Given the description of an element on the screen output the (x, y) to click on. 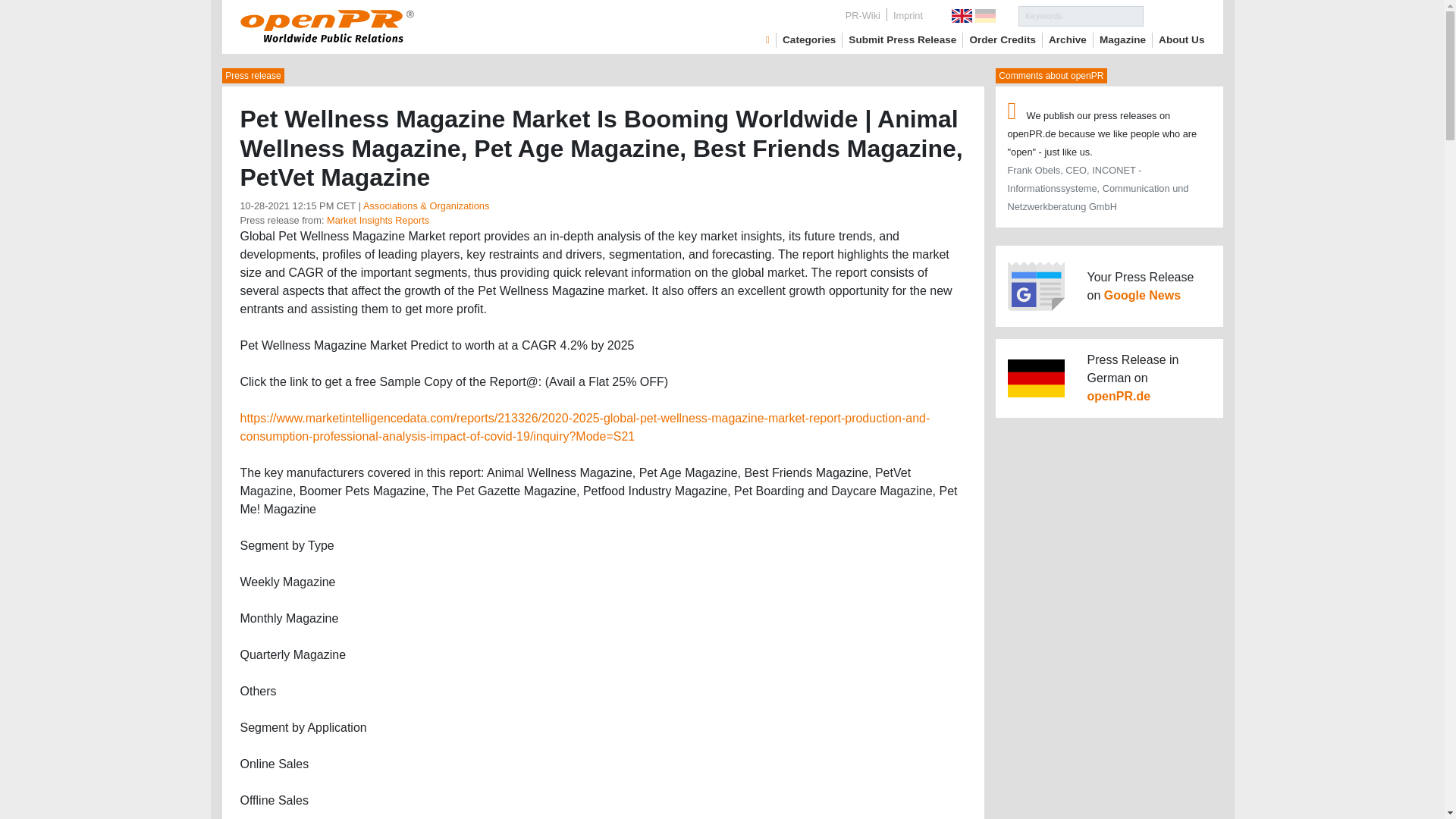
Order Credits (1002, 39)
Market Insights Reports (377, 220)
Magazine (1122, 39)
archive und pressrelease of Market Insights Reports (377, 220)
Categories (809, 39)
Submit Press Release (902, 39)
About Us (1181, 39)
PR-Wiki (863, 15)
Imprint (907, 15)
Archive (1067, 39)
openPR (767, 39)
Search   (1173, 15)
